Given the description of an element on the screen output the (x, y) to click on. 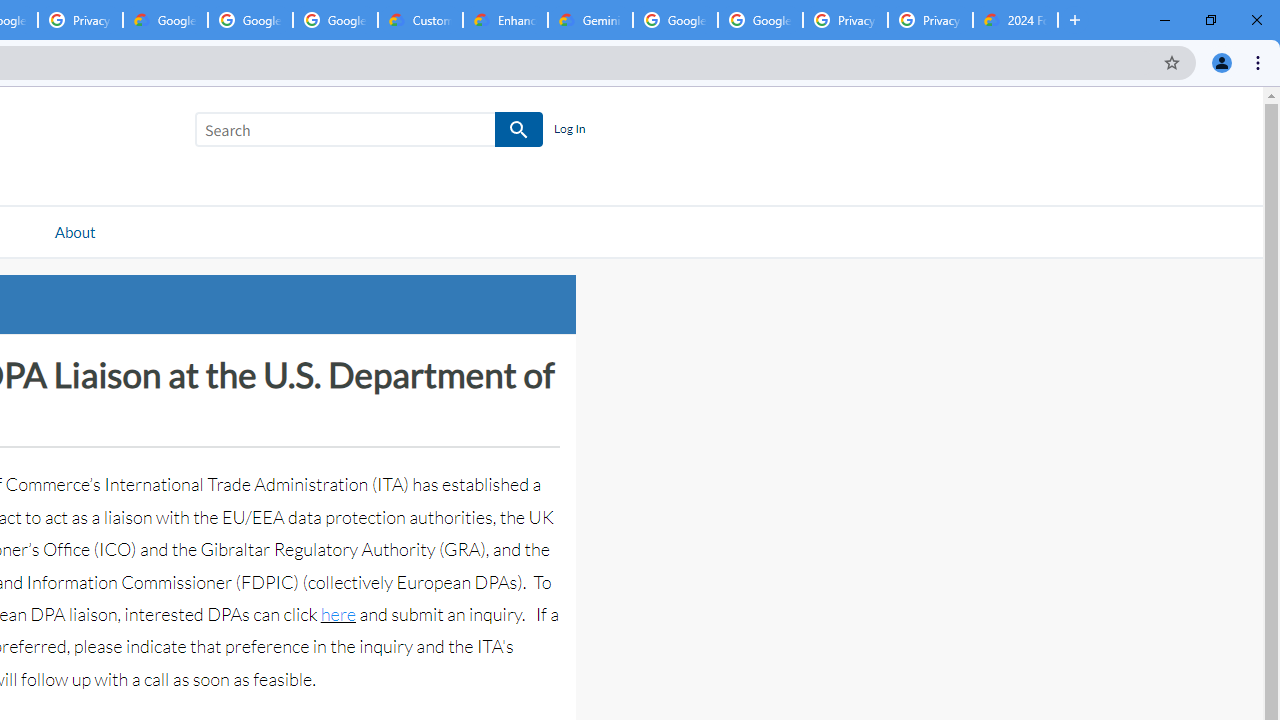
Google Cloud Terms Directory | Google Cloud (165, 20)
Enhanced Support | Google Cloud (505, 20)
Google Workspace - Specific Terms (250, 20)
Google Cloud Platform (675, 20)
Customer Care | Google Cloud (420, 20)
here (337, 614)
